Given the description of an element on the screen output the (x, y) to click on. 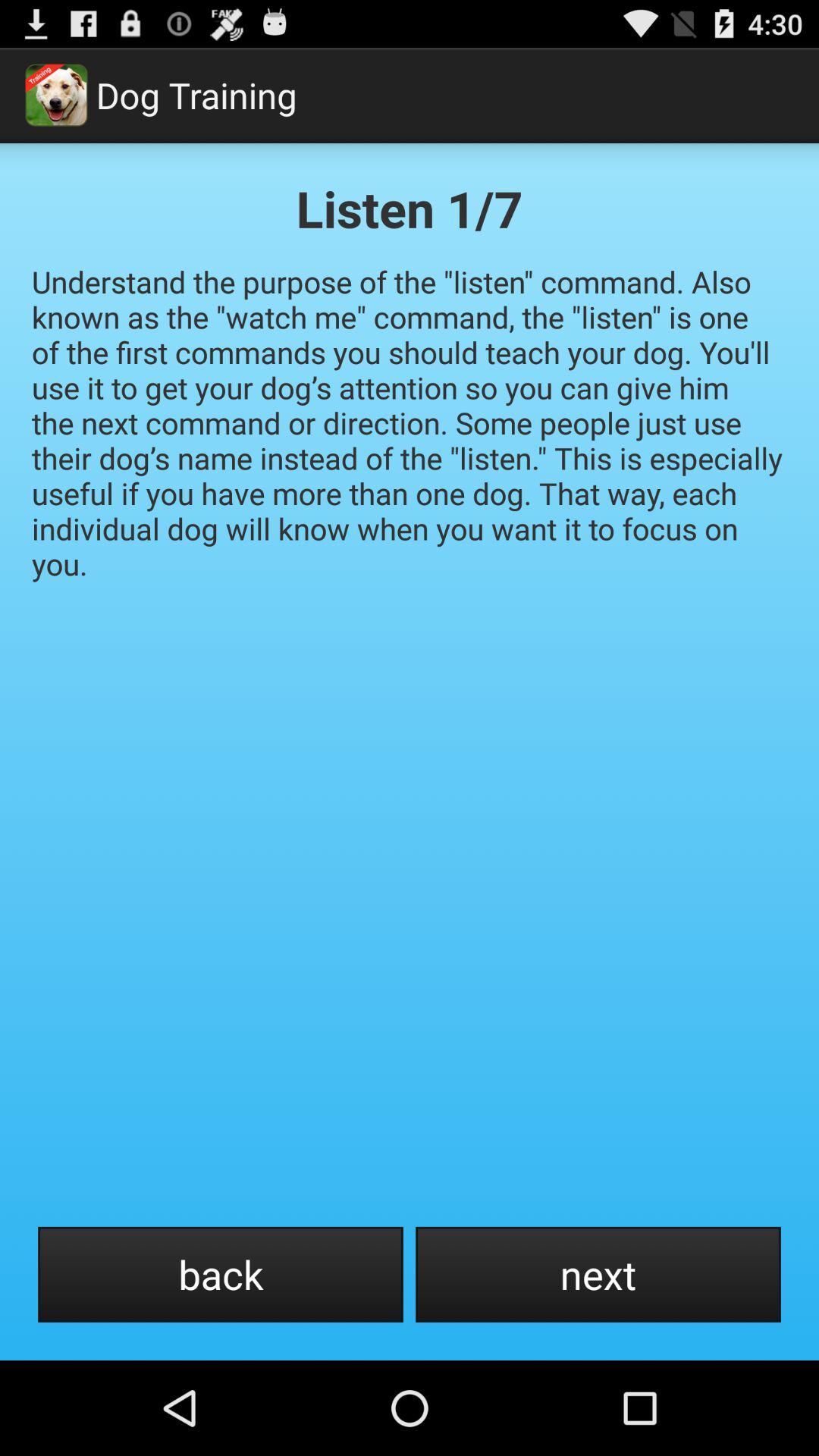
tap icon to the right of the back item (597, 1274)
